Given the description of an element on the screen output the (x, y) to click on. 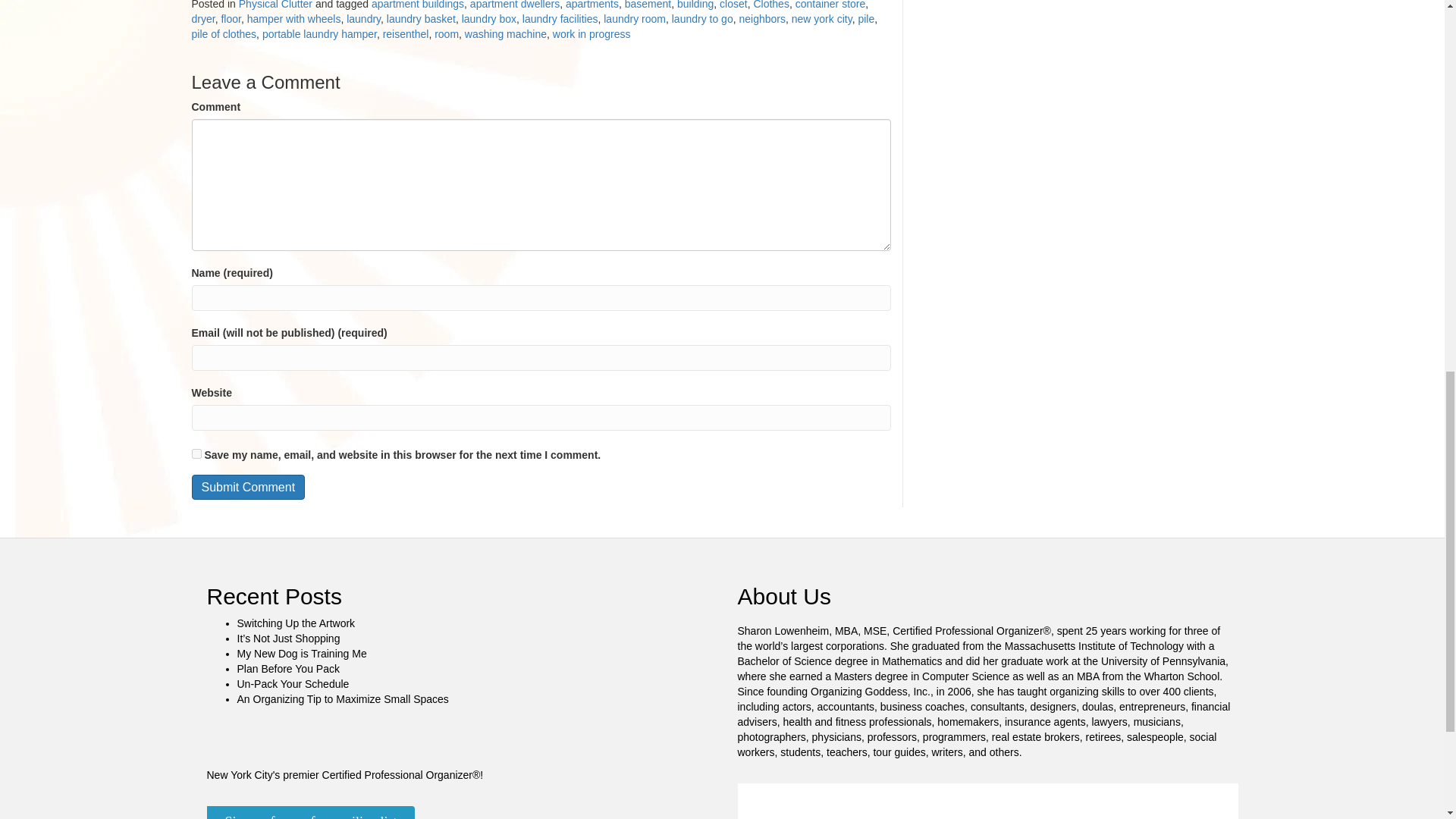
container store (830, 4)
Clothes (770, 4)
dryer (202, 19)
yes (195, 453)
apartment buildings (417, 4)
Submit Comment (247, 487)
closet (733, 4)
apartments (592, 4)
building (695, 4)
apartment dwellers (514, 4)
